Given the description of an element on the screen output the (x, y) to click on. 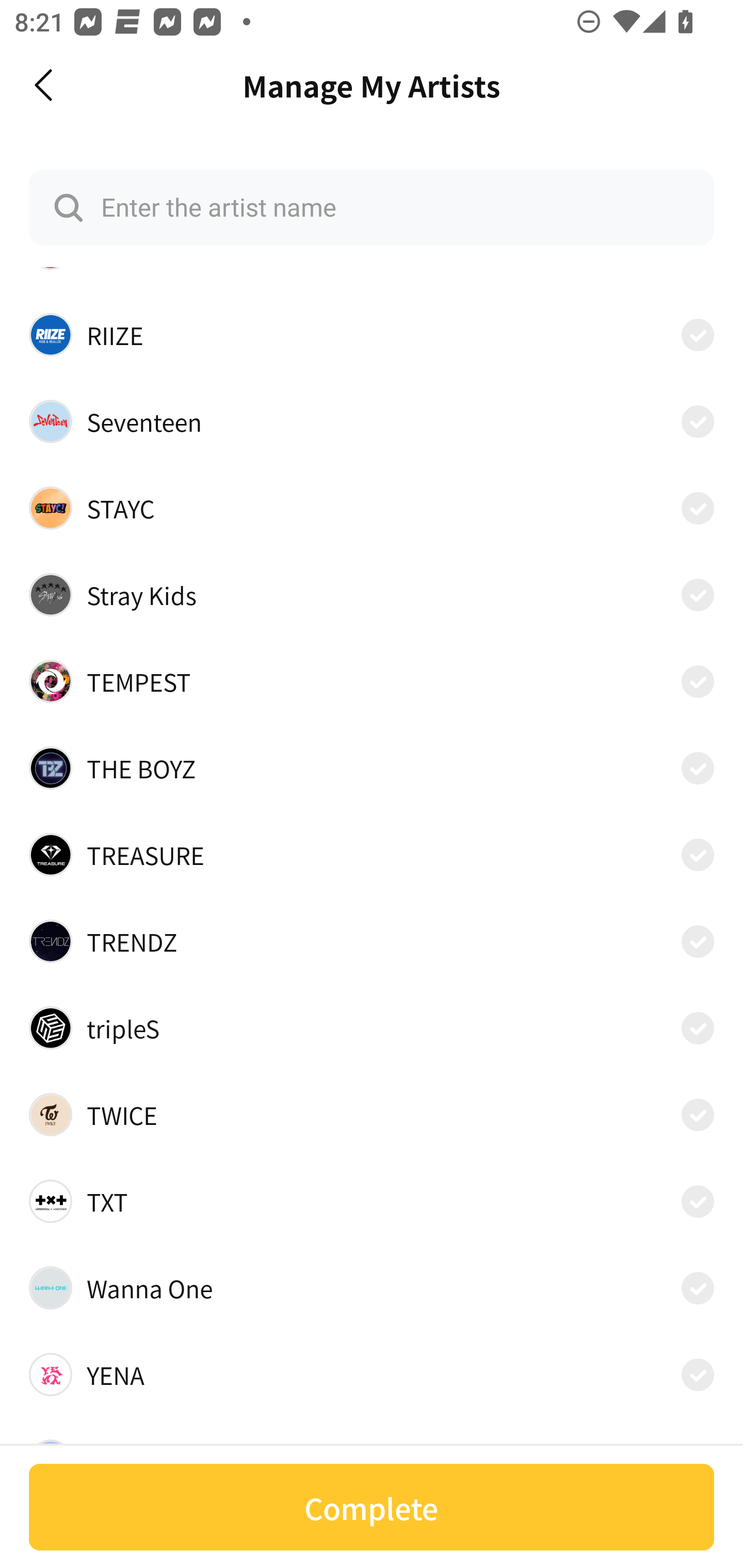
Enter the artist name (371, 207)
RIIZE (371, 334)
Seventeen (371, 421)
STAYC (371, 507)
Stray Kids (371, 594)
TEMPEST (371, 681)
THE BOYZ (371, 768)
TREASURE (371, 854)
TRENDZ (371, 941)
tripleS (371, 1027)
TWICE (371, 1114)
TXT (371, 1201)
Wanna One (371, 1287)
YENA (371, 1374)
Complete (371, 1507)
